Given the description of an element on the screen output the (x, y) to click on. 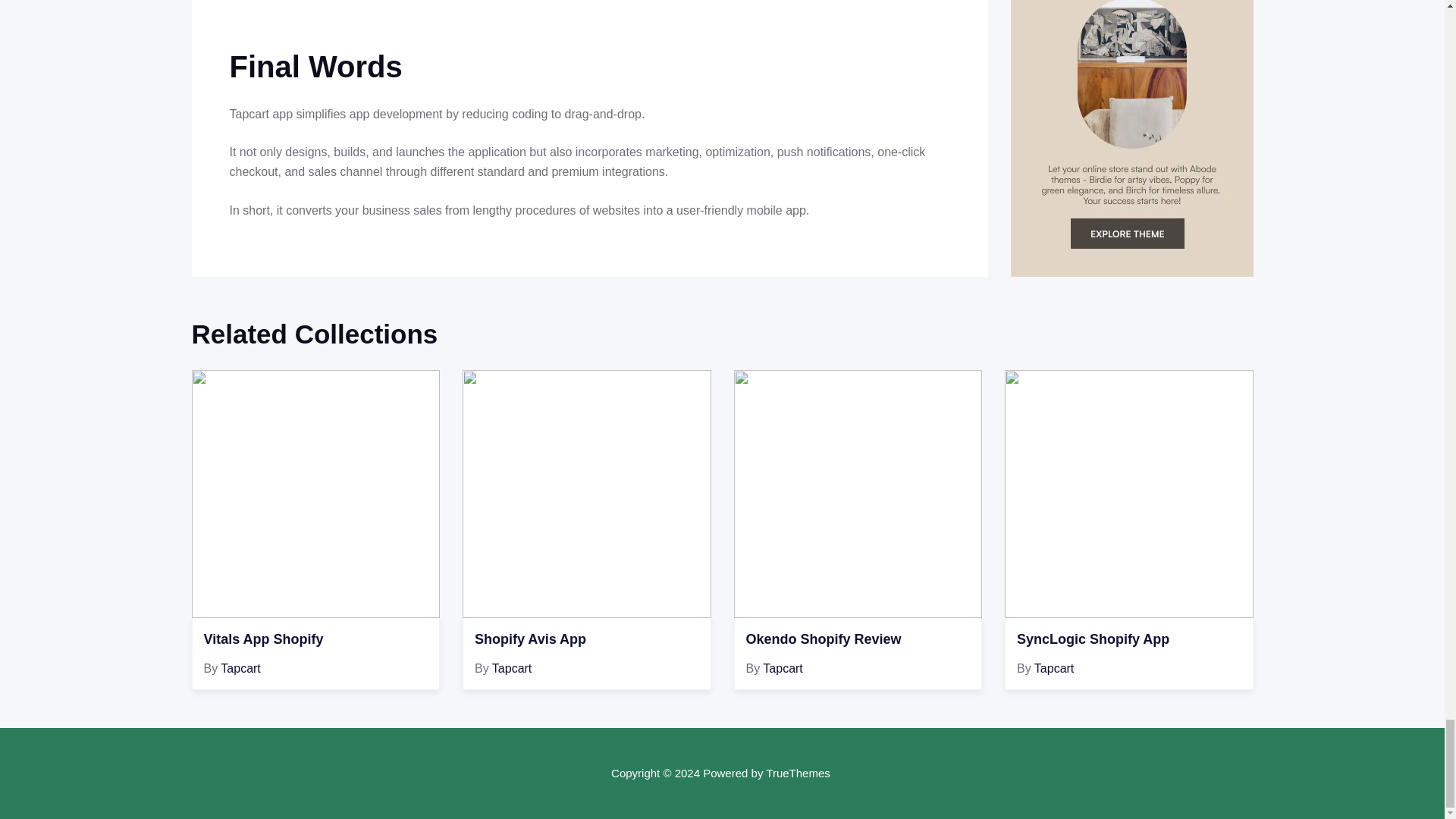
Okendo Shopify Review (858, 639)
Vitals App Shopify (315, 639)
Tapcart (240, 667)
Tapcart (511, 667)
Shopify Avis App (586, 639)
